Given the description of an element on the screen output the (x, y) to click on. 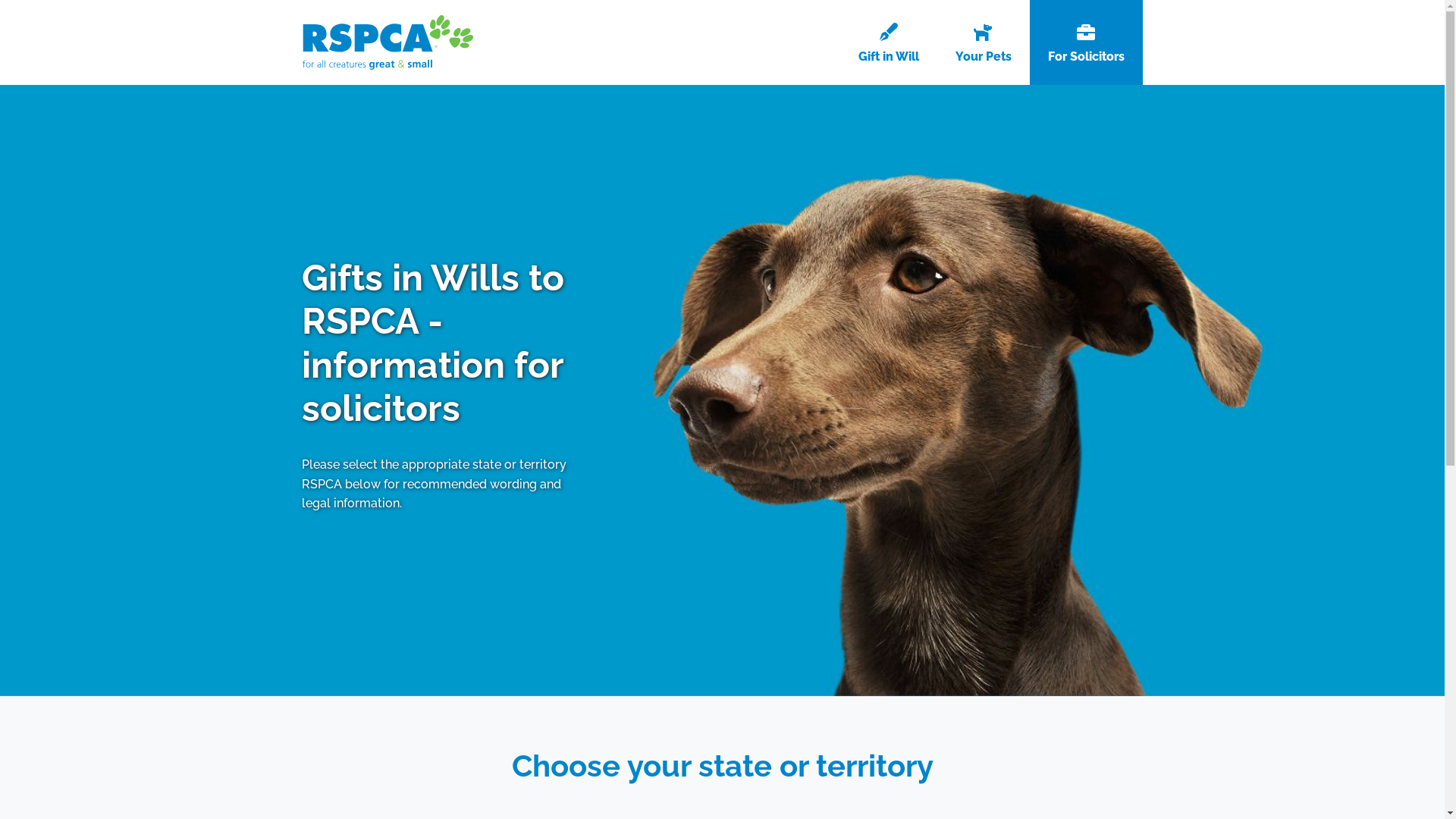
Your Pets Element type: text (983, 42)
RSPCA In Your Will Element type: hover (386, 42)
For Solicitors
(current) Element type: text (1085, 42)
Gift in Will Element type: text (888, 42)
